Given the description of an element on the screen output the (x, y) to click on. 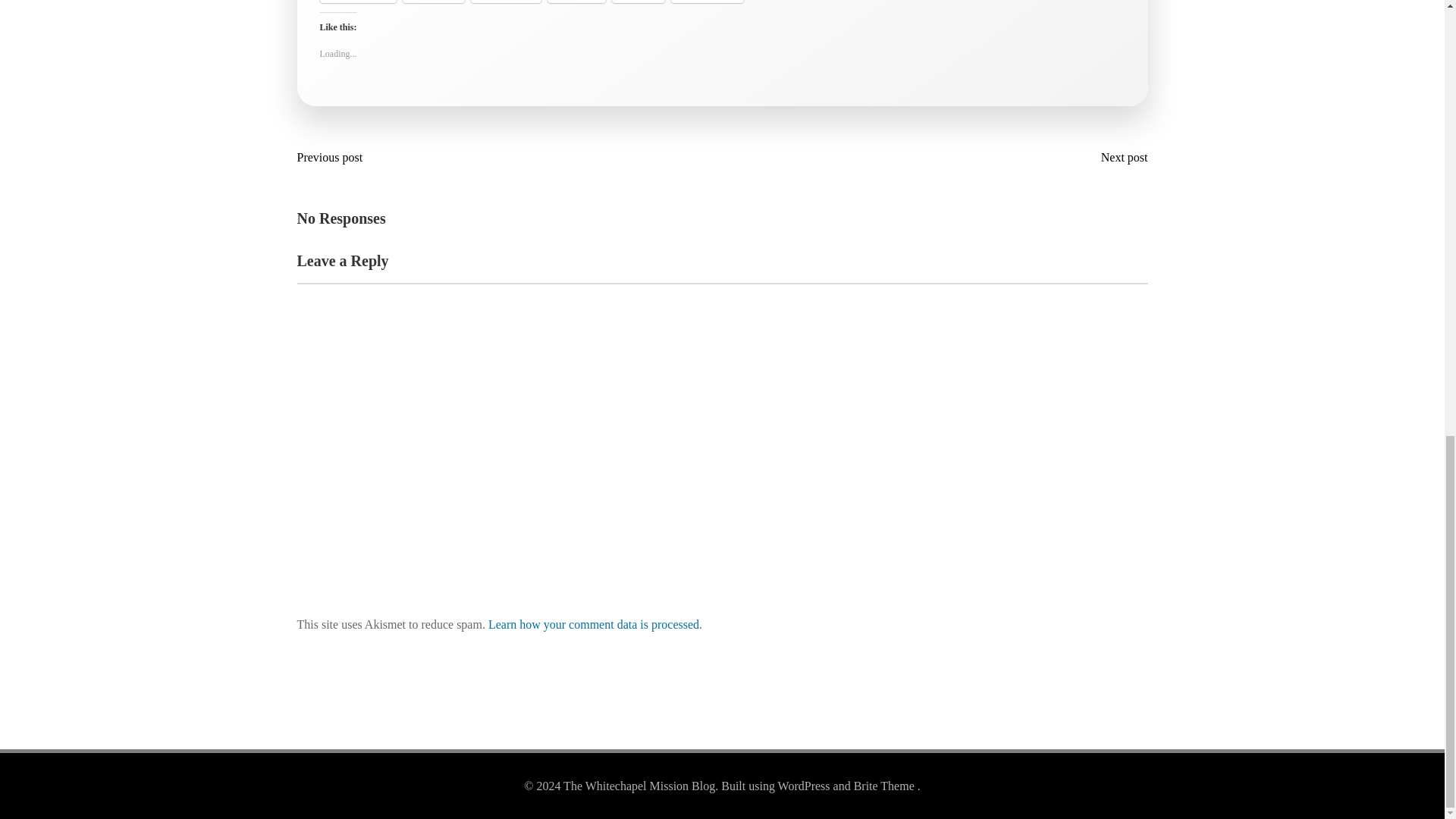
Click to share on LinkedIn (505, 1)
Facebook (358, 1)
Next post (1120, 157)
Click to share on Pinterest (706, 1)
Click to email a link to a friend (576, 1)
Click to share on Facebook (358, 1)
Email (576, 1)
Previous post (334, 157)
Pinterest (706, 1)
